Given the description of an element on the screen output the (x, y) to click on. 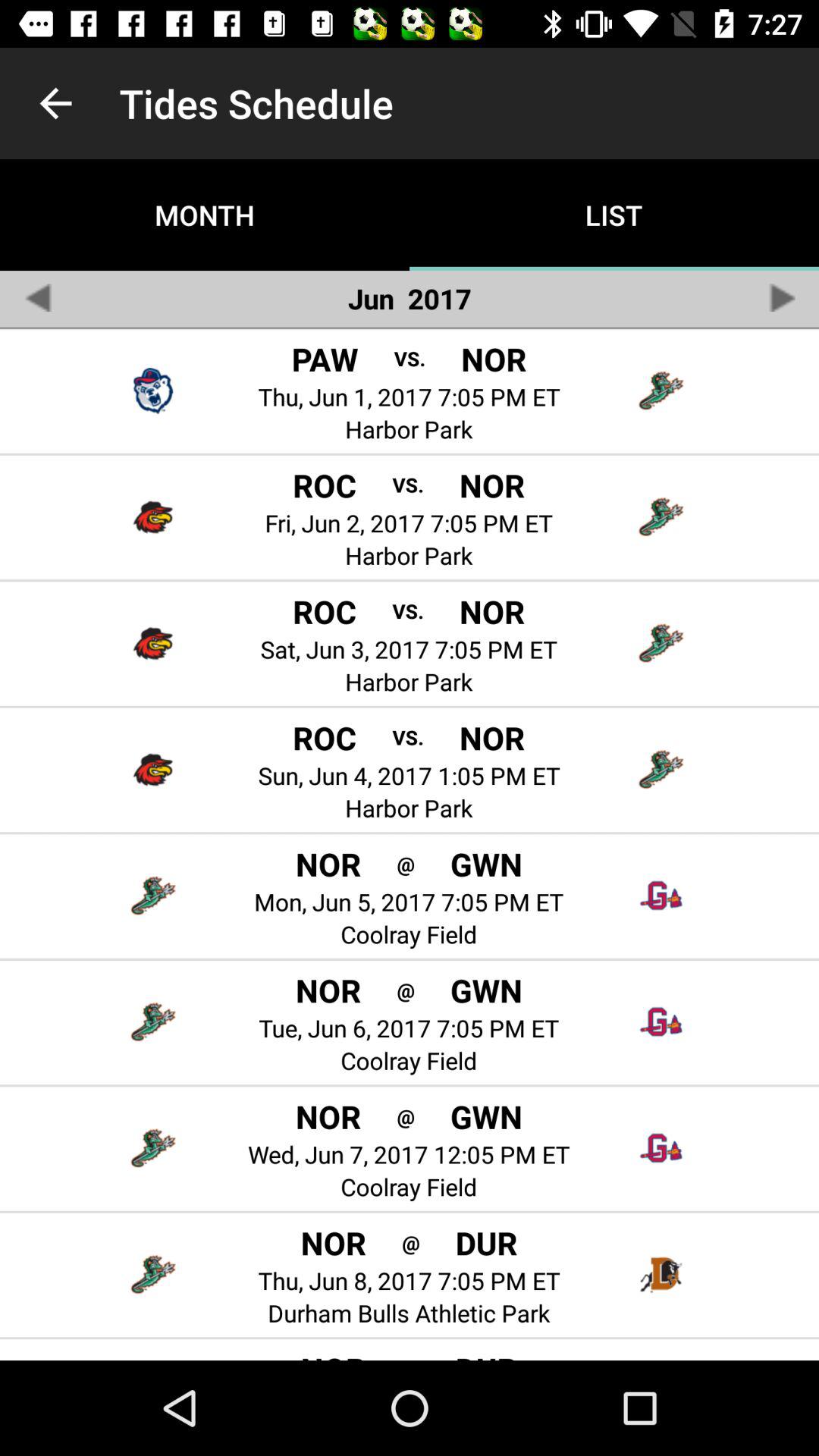
press the durham bulls athletic (408, 1312)
